Given the description of an element on the screen output the (x, y) to click on. 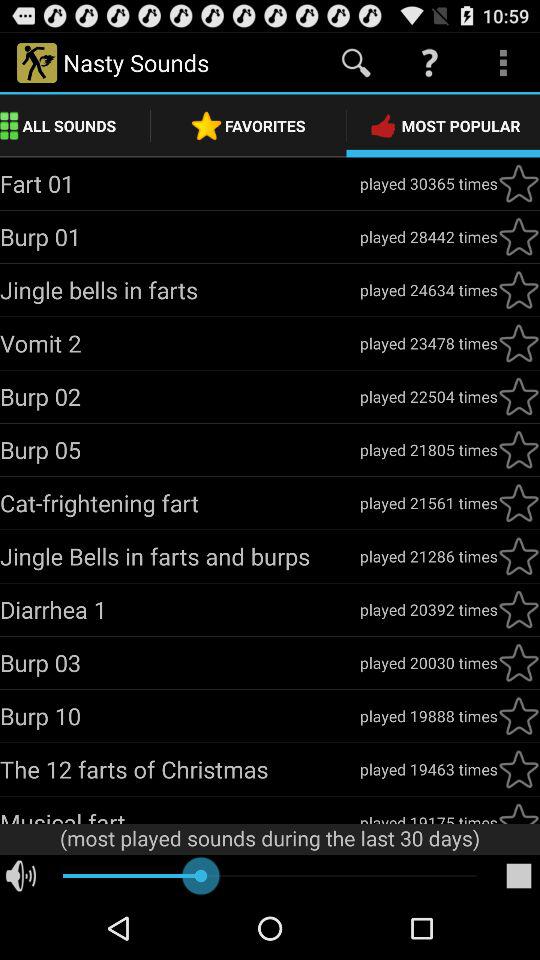
select item below most played sounds (518, 875)
